Given the description of an element on the screen output the (x, y) to click on. 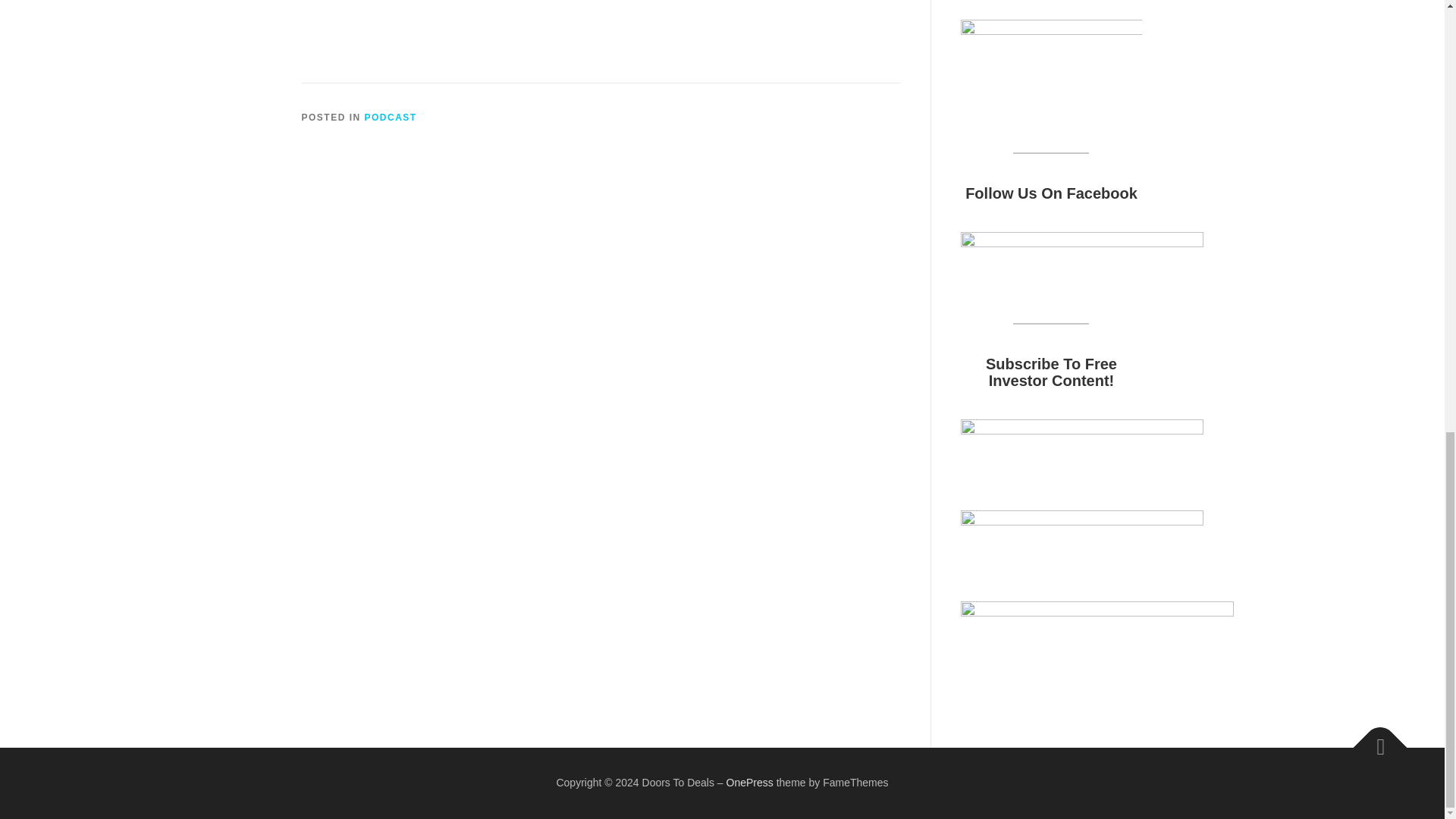
PODCAST (390, 117)
OnePress (749, 782)
Back To Top (1372, 739)
